Given the description of an element on the screen output the (x, y) to click on. 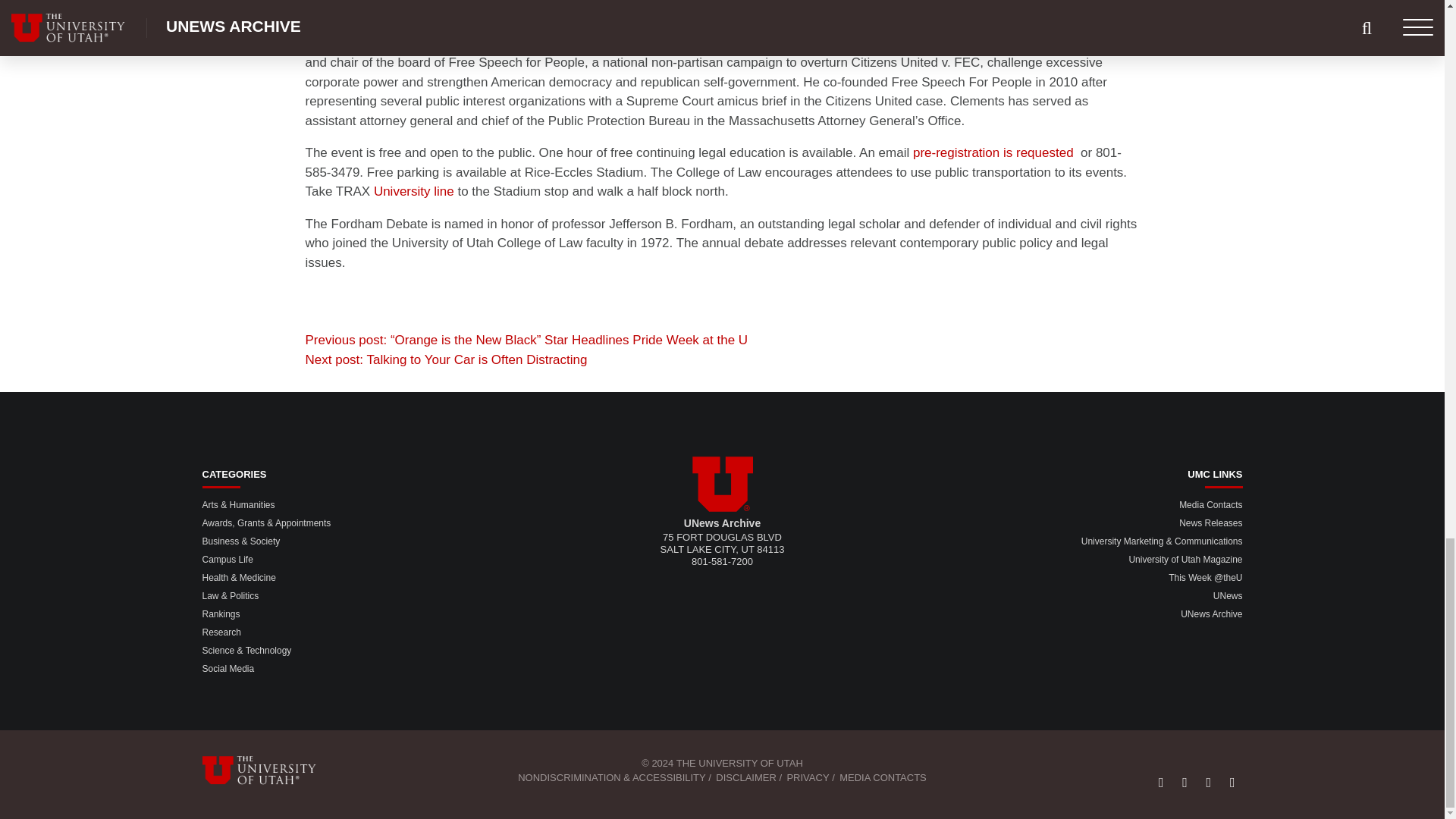
University line (414, 191)
Social Media (227, 668)
pre-registration is requested (993, 152)
Email Miriam Lovin  (993, 152)
University of Utah Magazine (1184, 559)
Media Contacts (1210, 504)
News Releases (1210, 522)
University of Utah (269, 769)
University of Utah (721, 483)
Research (221, 632)
Campus Life (226, 559)
Next post: Talking to Your Car is Often Distracting (445, 359)
Rankings (221, 614)
University line (414, 191)
